Given the description of an element on the screen output the (x, y) to click on. 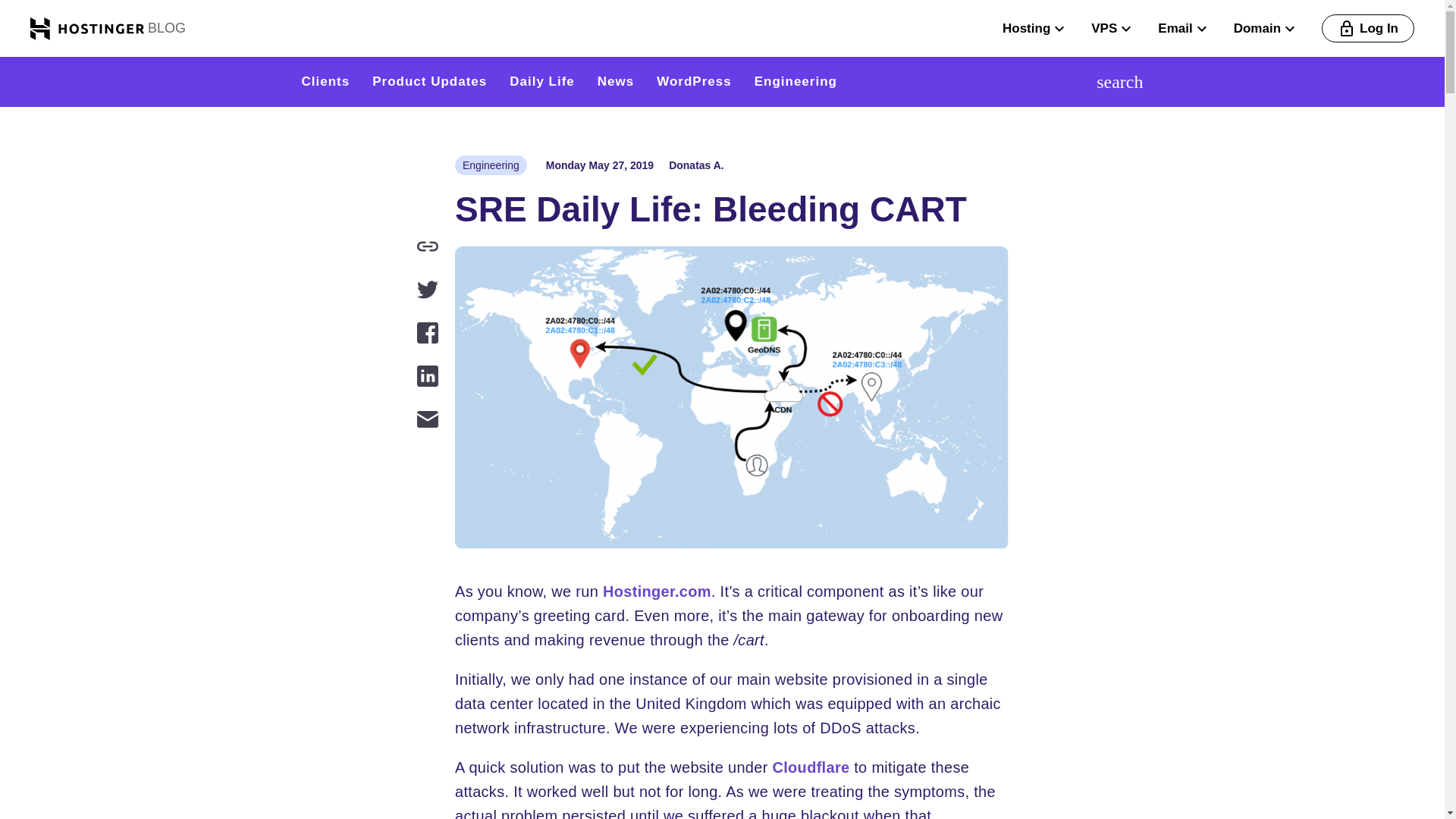
Daily Life (542, 81)
Log In (1367, 28)
Product Updates (429, 81)
Clients (325, 81)
News (614, 81)
Engineering (795, 81)
Engineering (490, 165)
Cloudflare (809, 767)
BLOG (165, 28)
Hostinger.com (656, 591)
WordPress (693, 81)
